Given the description of an element on the screen output the (x, y) to click on. 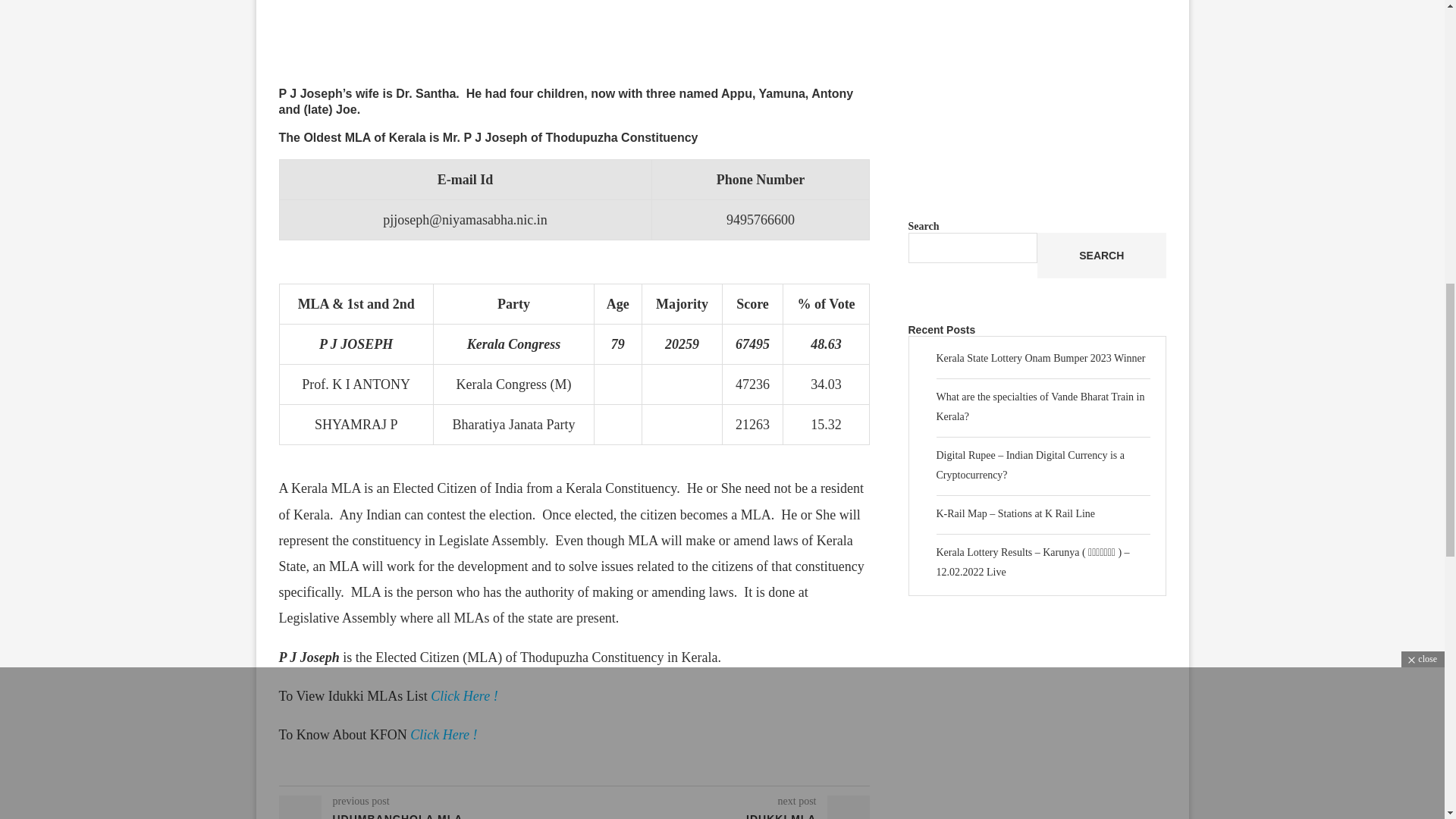
IDUKKI MLA (722, 815)
Advertisement (574, 43)
SEARCH (1101, 255)
Click Here ! (443, 734)
UDUMBANCHOLA MLA (427, 815)
Click Here ! (463, 695)
